Given the description of an element on the screen output the (x, y) to click on. 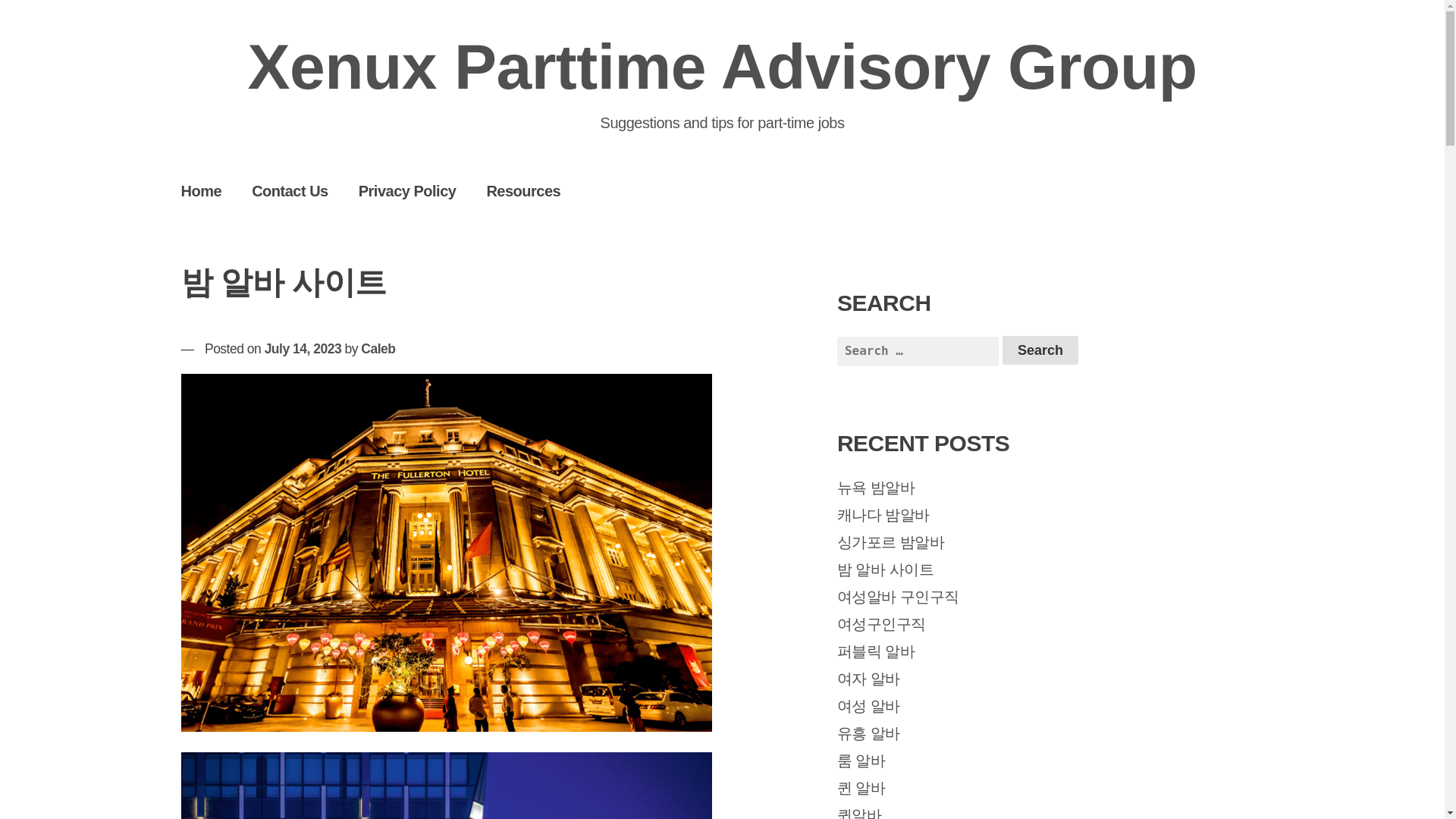
Privacy Policy (407, 190)
Search (1040, 349)
Xenux Parttime Advisory Group (721, 66)
July 14, 2023 (303, 348)
Contact Us (289, 190)
Resources (522, 190)
Search (1040, 349)
Home (201, 190)
Caleb (377, 348)
Search (1040, 349)
